Given the description of an element on the screen output the (x, y) to click on. 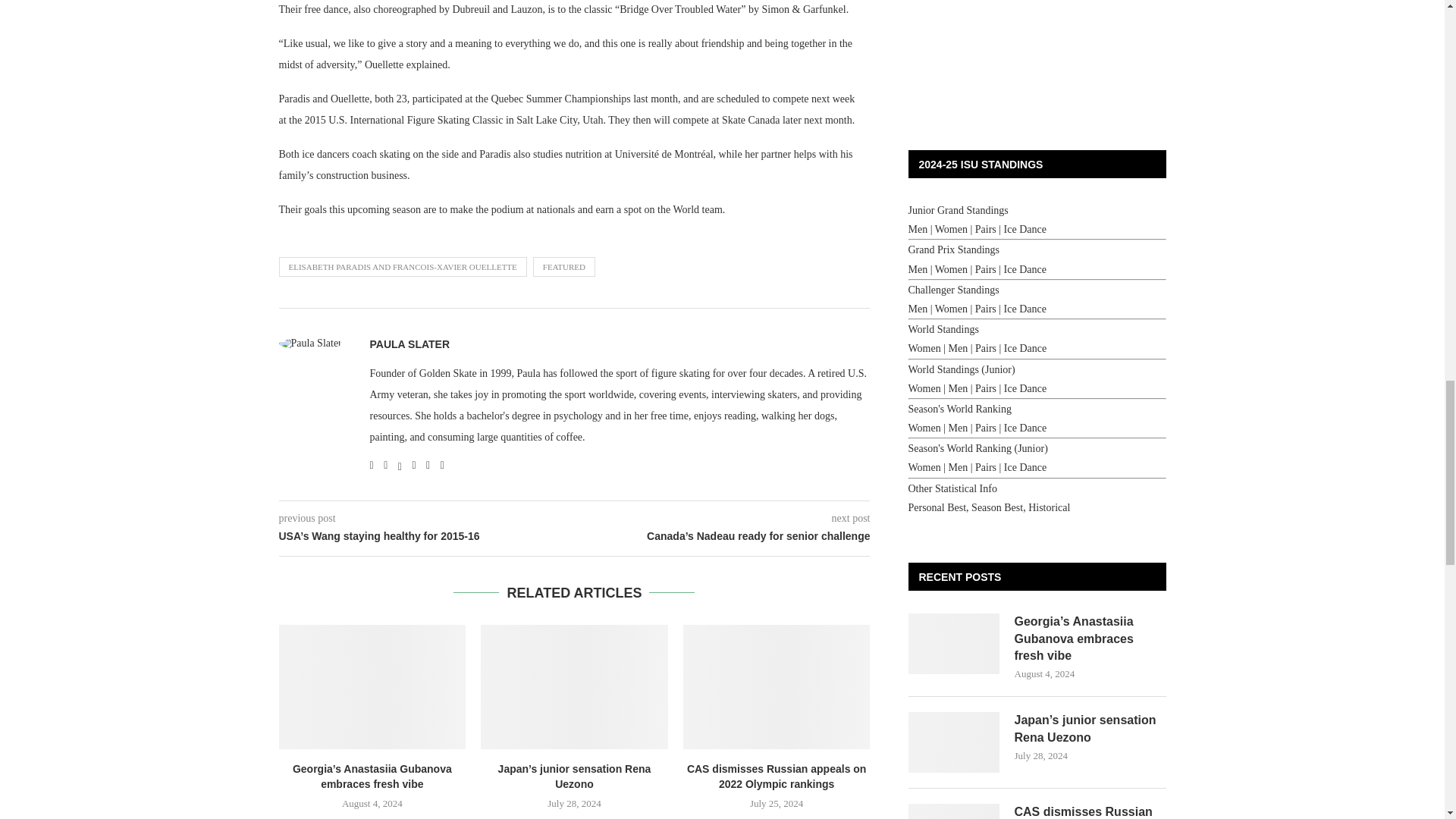
CAS dismisses Russian appeals on 2022 Olympic rankings (776, 686)
Author Paula Slater (409, 344)
